Given the description of an element on the screen output the (x, y) to click on. 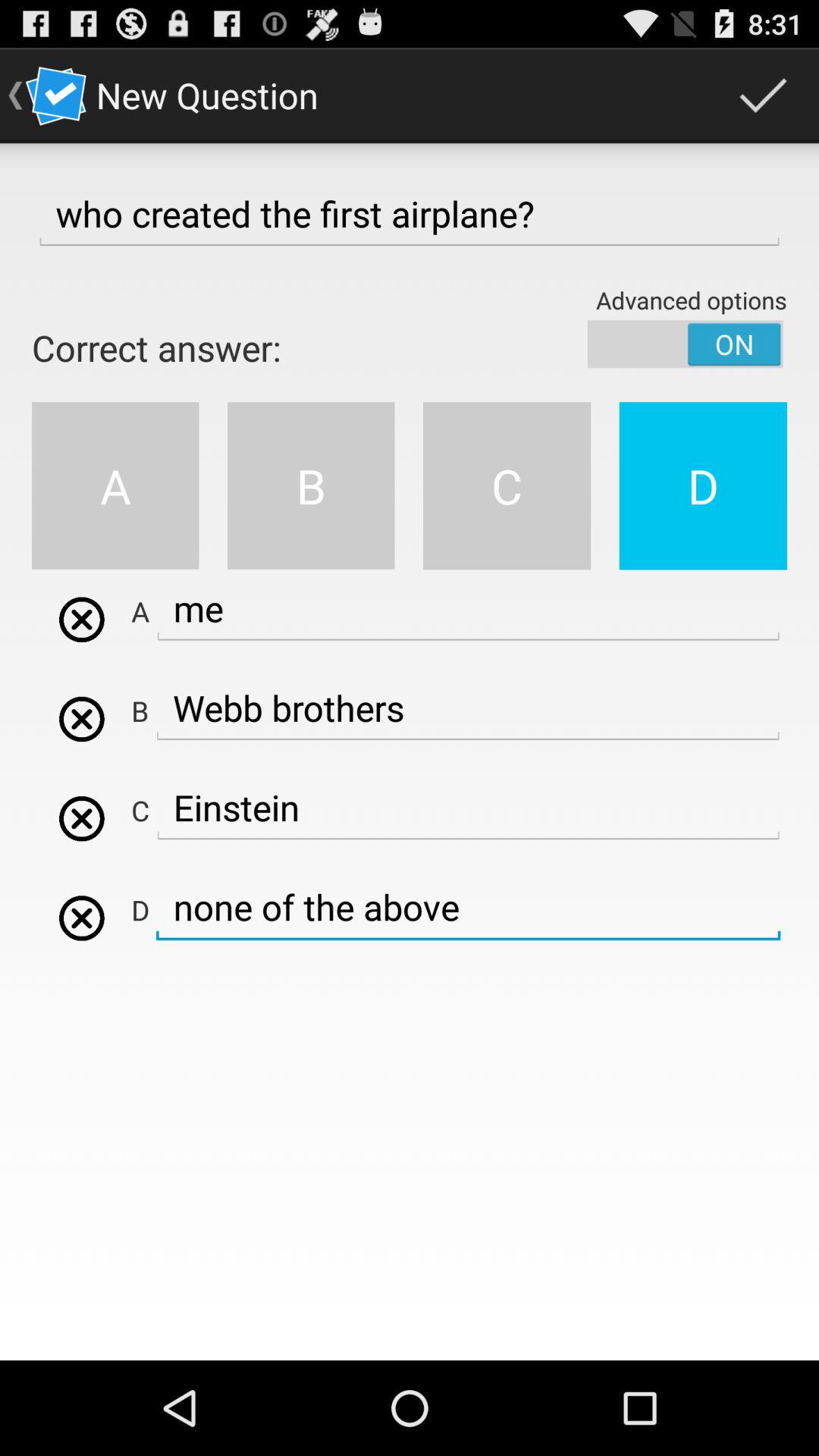
webb brothers (81, 619)
